Given the description of an element on the screen output the (x, y) to click on. 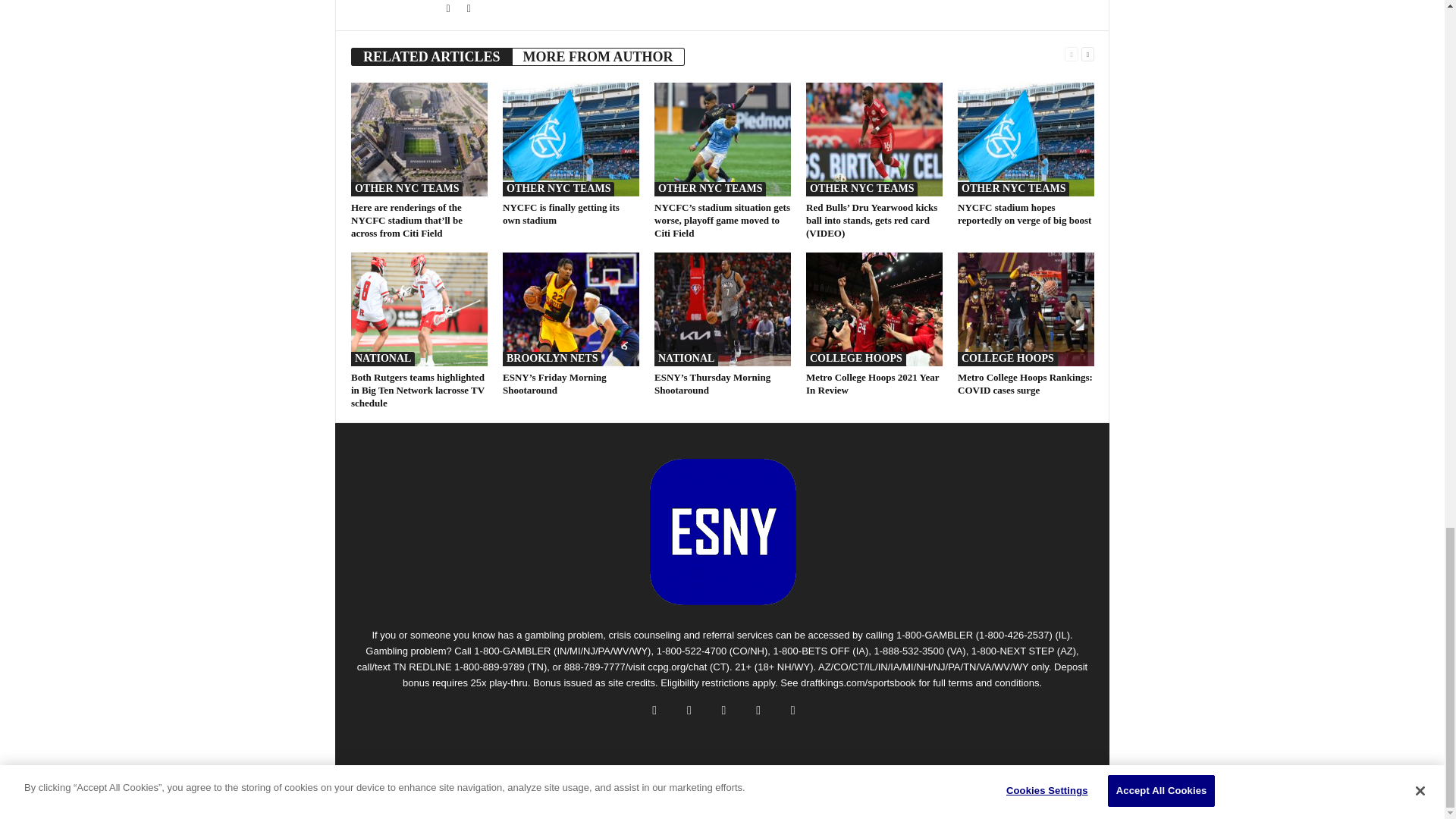
Facebook (449, 9)
Linkedin (468, 9)
NYCFC is finally getting its own stadium (570, 139)
